Given the description of an element on the screen output the (x, y) to click on. 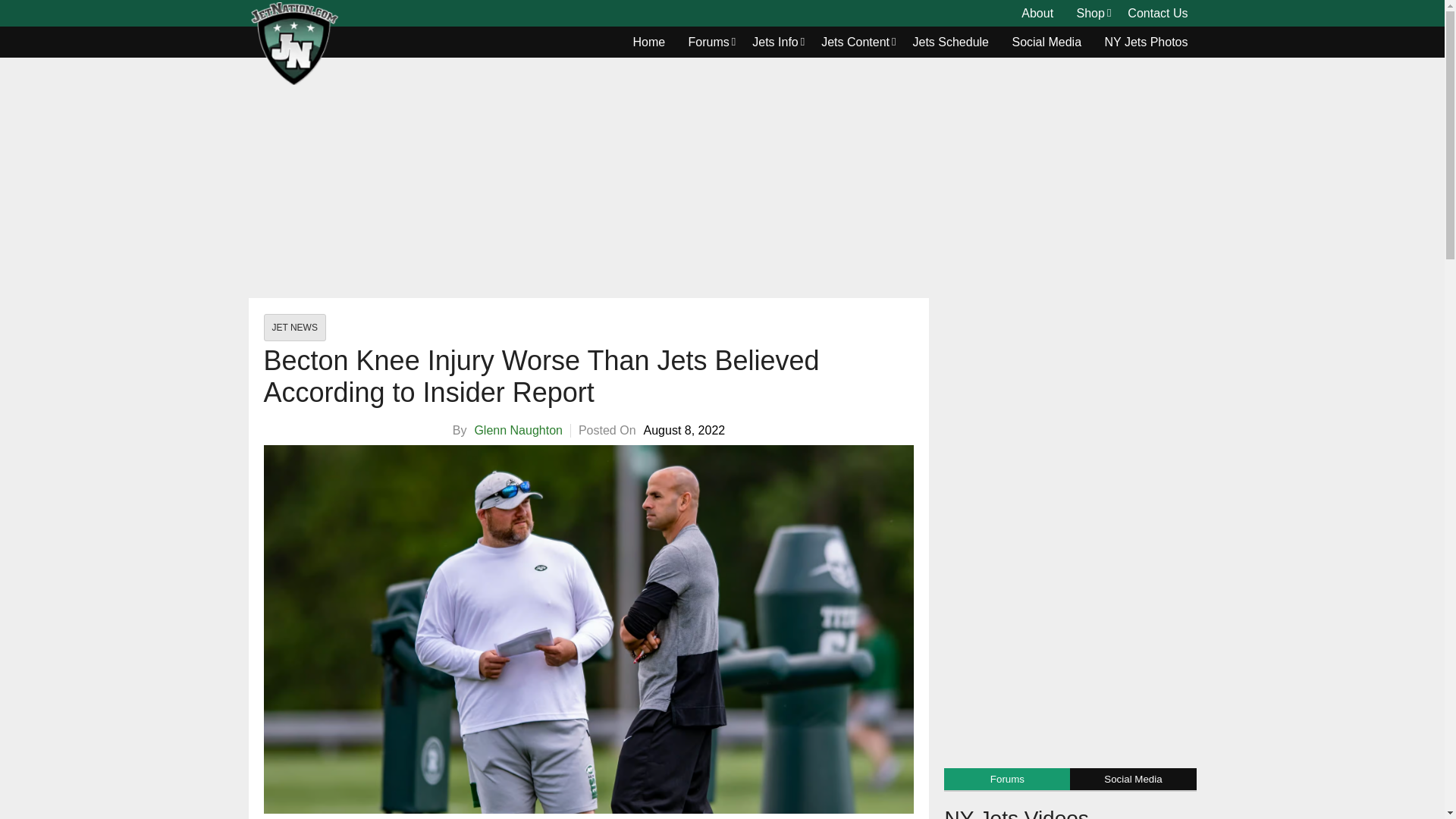
Social Media (1046, 41)
Jets Content (855, 41)
Glenn Naughton (518, 430)
About (1037, 13)
Jets Info (775, 41)
Forums (709, 41)
Jets Schedule (950, 41)
Home (649, 41)
NY Jets Social Media (1046, 41)
2022-08-08 (684, 430)
NY Jets Photos (1146, 41)
JET NEWS (294, 327)
Shop (1090, 13)
Contact Us (1157, 13)
